Given the description of an element on the screen output the (x, y) to click on. 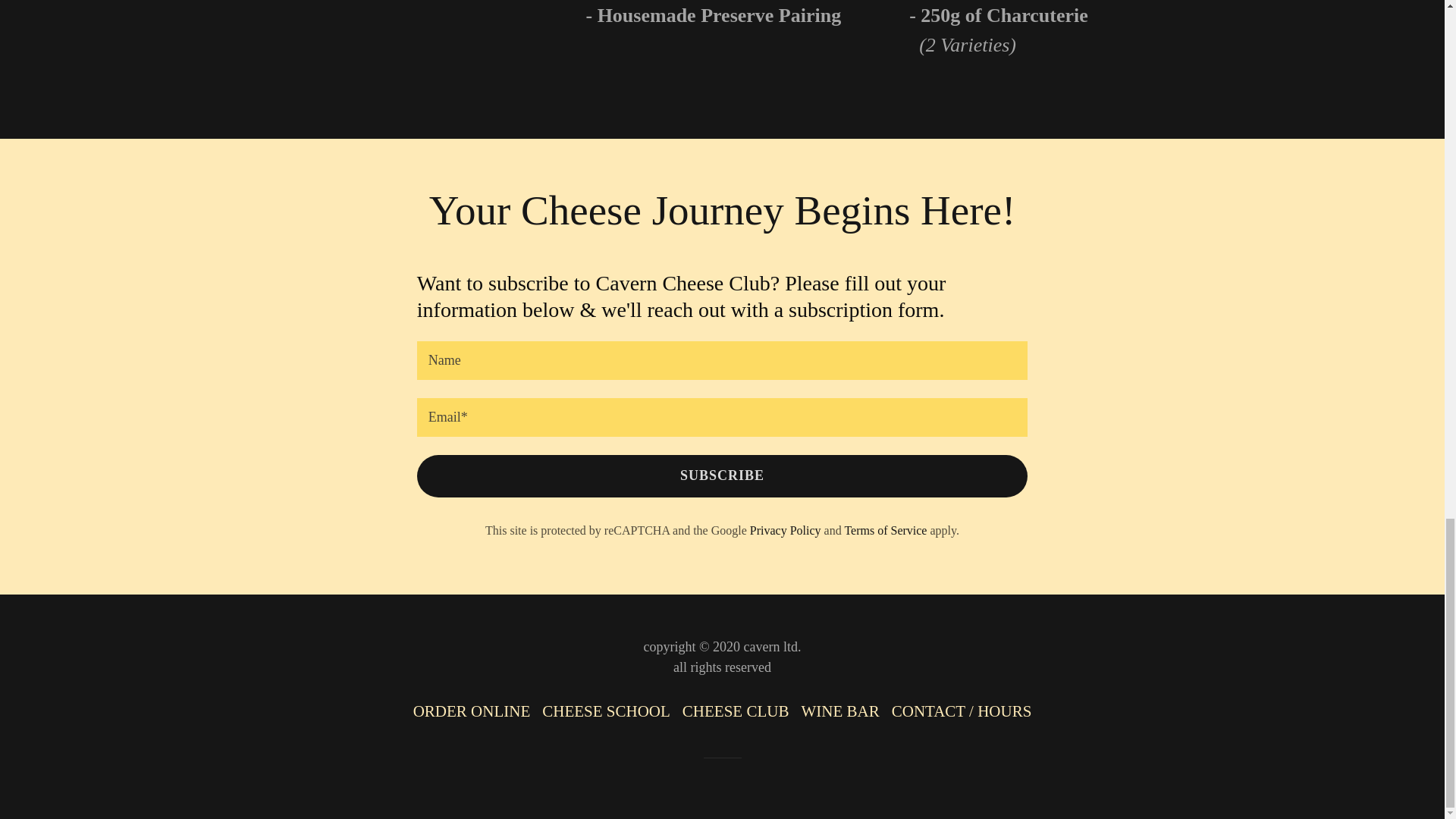
CHEESE SCHOOL (606, 711)
Terms of Service (885, 530)
CHEESE CLUB (735, 711)
ORDER ONLINE (472, 711)
Privacy Policy (785, 530)
WINE BAR (839, 711)
SUBSCRIBE (721, 476)
